Given the description of an element on the screen output the (x, y) to click on. 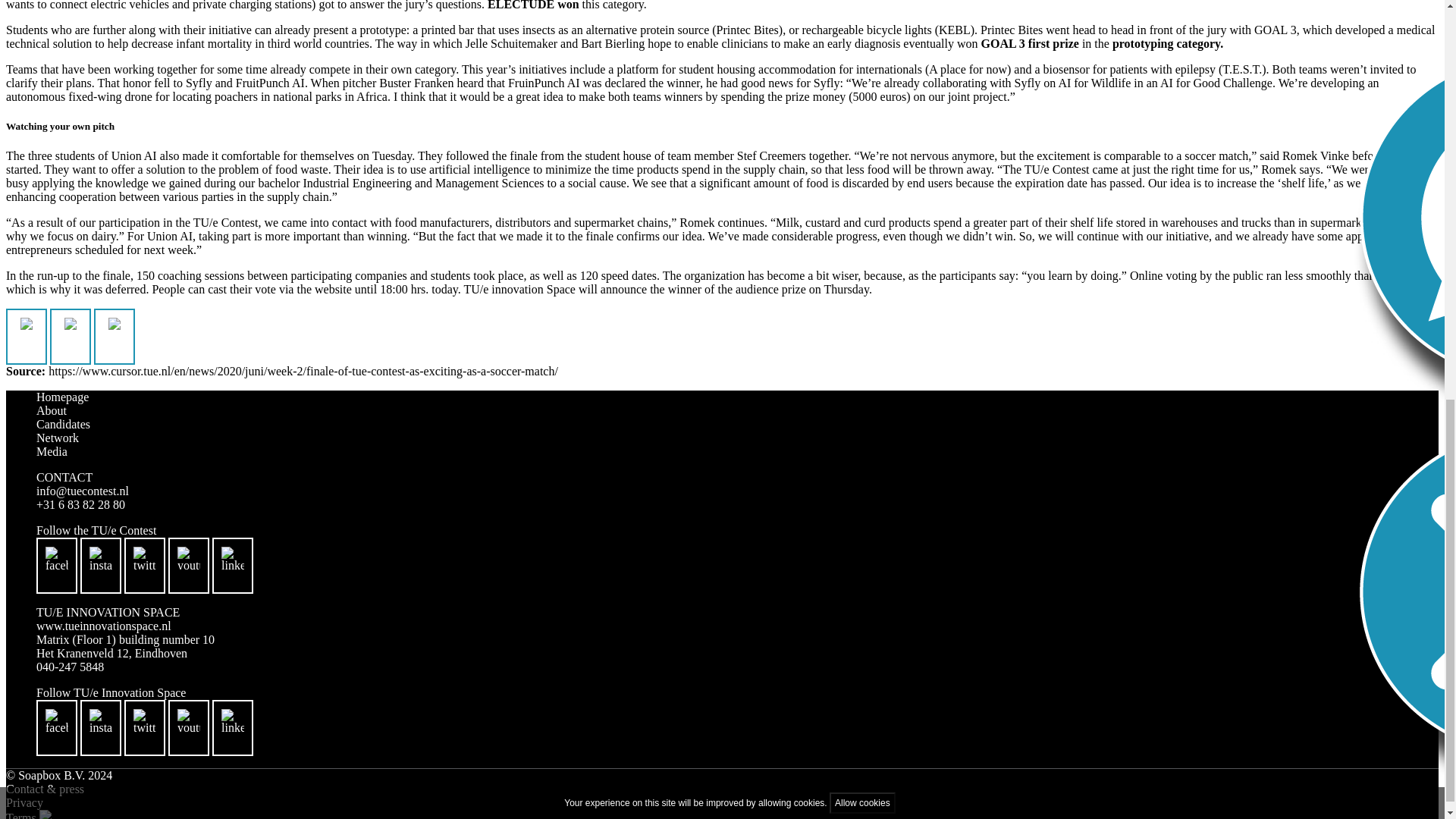
A place for now (967, 69)
Network (57, 437)
About (51, 410)
website (333, 288)
GOAL 3 (1275, 29)
Printec Bites (747, 29)
FruitPunch AI (269, 82)
T.E.S.T. (1242, 69)
KEBL (955, 29)
Syfly (199, 82)
